Given the description of an element on the screen output the (x, y) to click on. 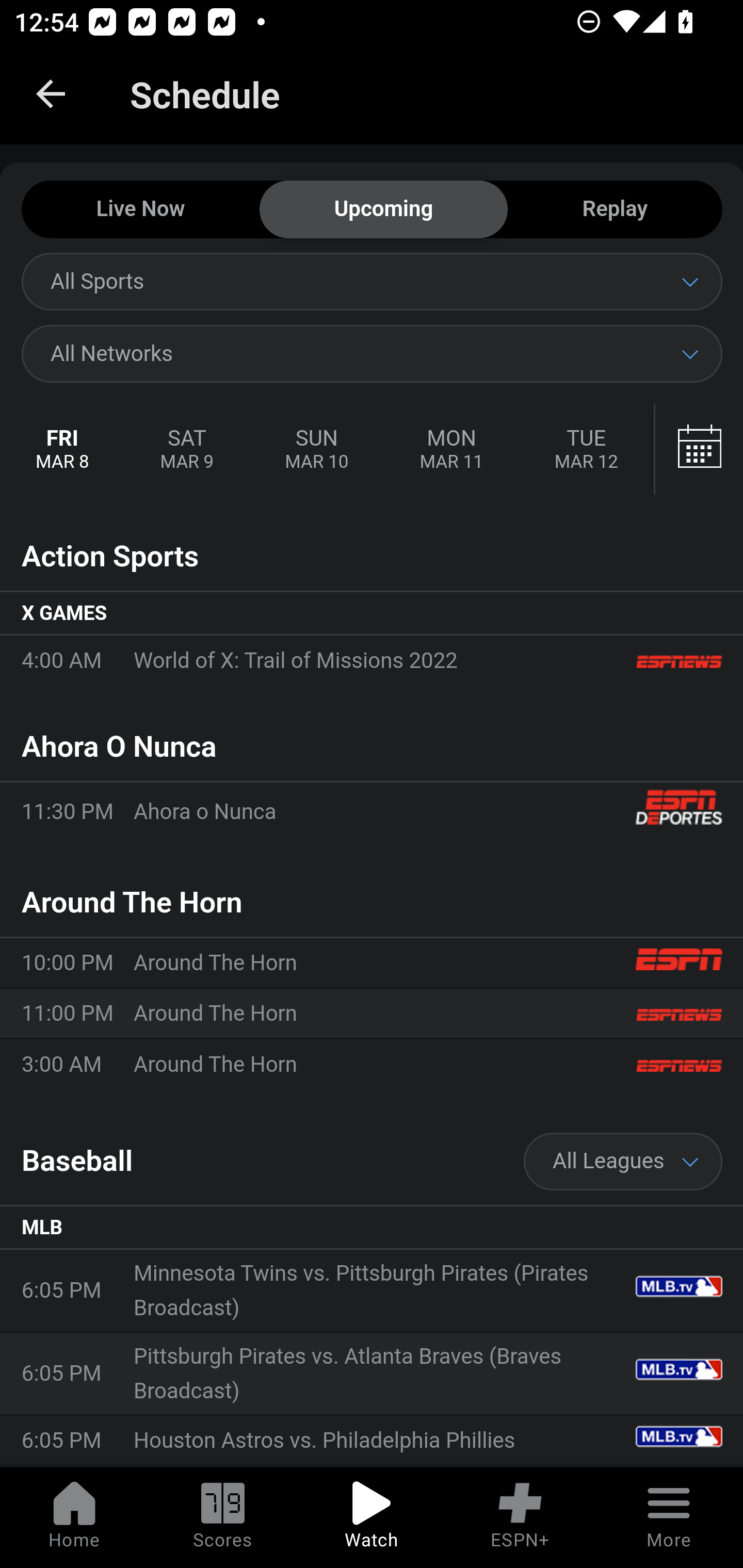
back.button (50, 93)
Live Now (140, 209)
Upcoming (382, 209)
Replay (614, 209)
All Sports (371, 281)
All Networks (371, 353)
FRI MAR 8 (63, 449)
SAT MAR 9 (186, 449)
SUN MAR 10 (316, 449)
MON MAR 11 (451, 449)
TUE MAR 12 (586, 449)
WED MAR 13 (697, 449)
All Leagues (622, 1161)
Home (74, 1517)
Scores (222, 1517)
ESPN+ (519, 1517)
More (668, 1517)
